Given the description of an element on the screen output the (x, y) to click on. 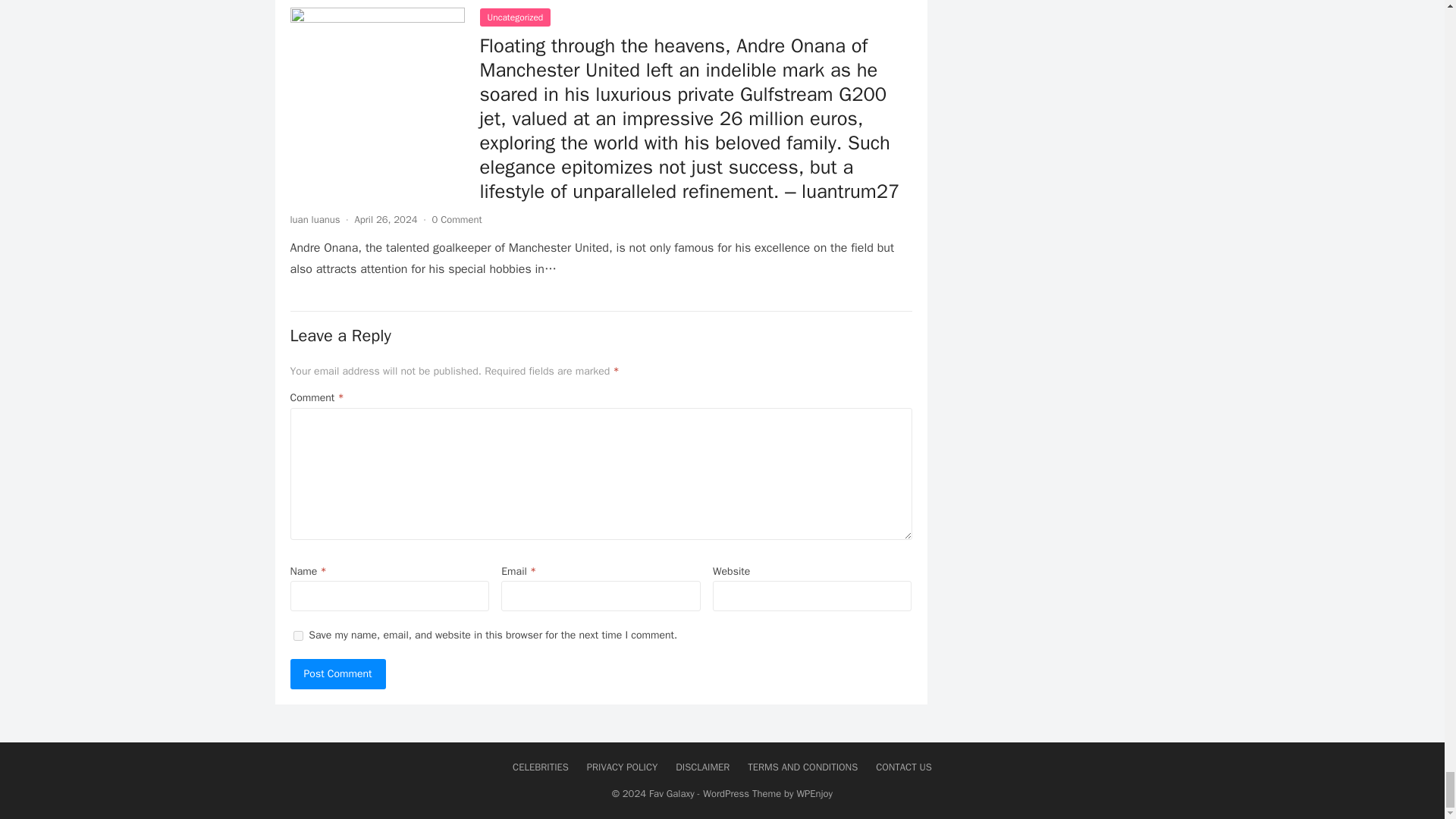
Post Comment (337, 673)
Posts by luan luanus (314, 219)
yes (297, 635)
